Given the description of an element on the screen output the (x, y) to click on. 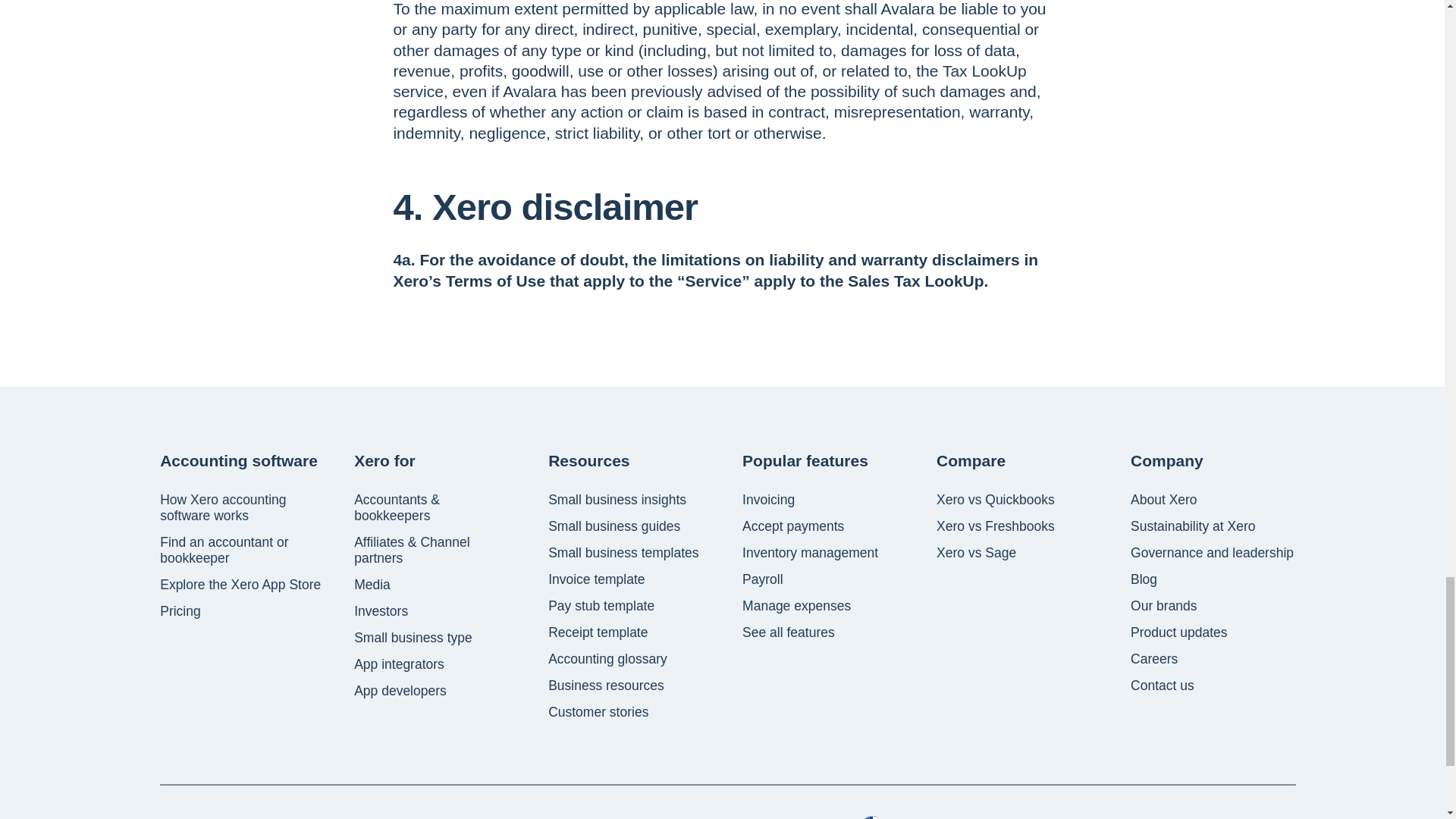
Invoicing (768, 499)
Small business guides (613, 526)
Small business type (412, 637)
Business resources (605, 685)
Small business templates (623, 553)
Receipt template (597, 632)
App integrators (398, 664)
App developers (399, 691)
Pricing (180, 611)
Investors (380, 611)
Accounting glossary (607, 659)
Customer stories (597, 712)
Media (371, 584)
Explore the Xero App Store (240, 584)
Invoice template (596, 579)
